Given the description of an element on the screen output the (x, y) to click on. 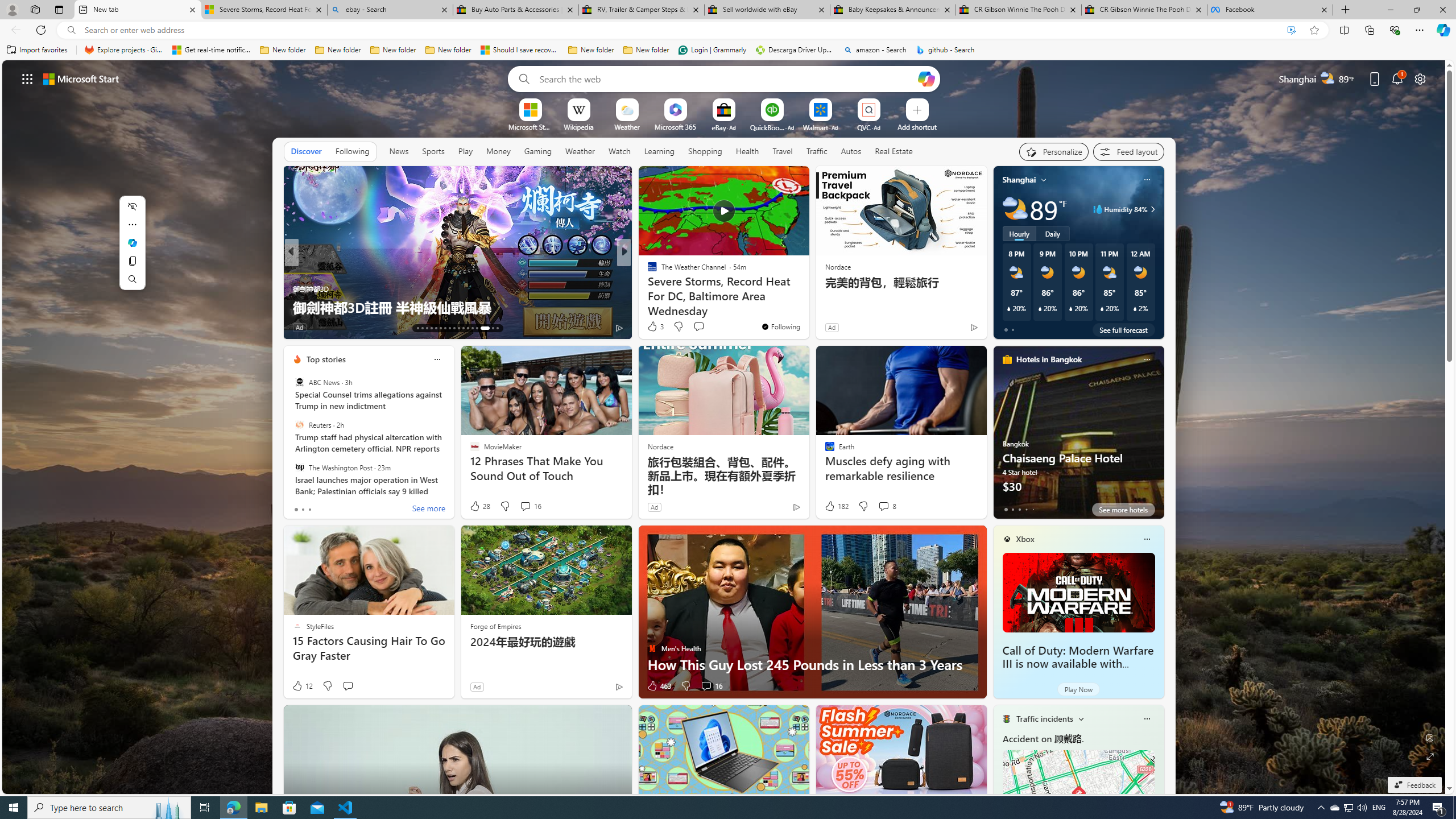
New folder (646, 49)
Play (465, 151)
ABC News (299, 382)
Health (746, 151)
Search (520, 78)
MUO (296, 288)
Sell worldwide with eBay (766, 9)
Mini menu on text selection (132, 242)
Back (13, 29)
News (398, 151)
Expand background (1430, 756)
Sports (432, 151)
